Given the description of an element on the screen output the (x, y) to click on. 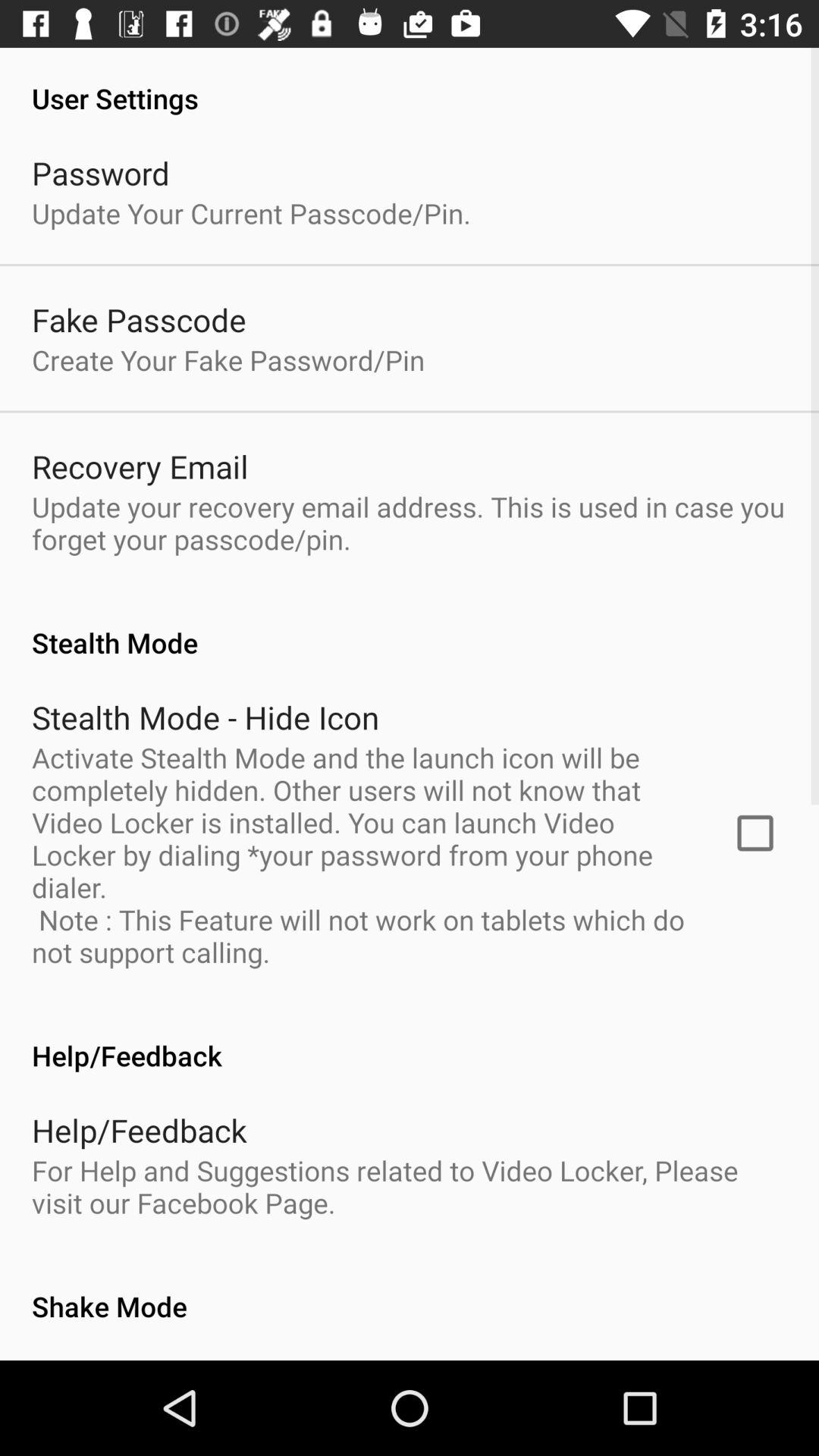
choose app above the password item (409, 82)
